Given the description of an element on the screen output the (x, y) to click on. 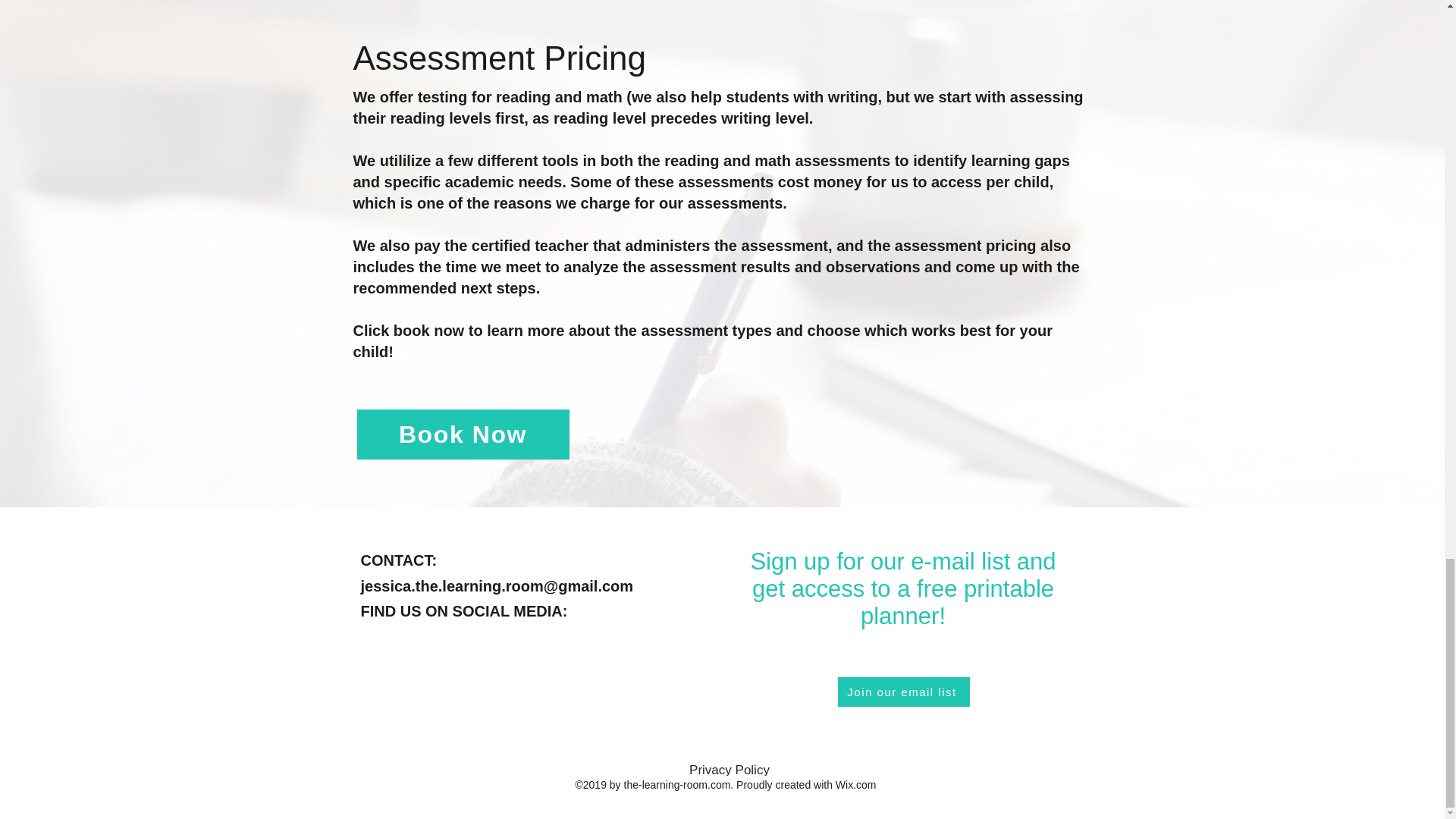
Join our email list (903, 691)
Privacy Policy (729, 769)
Book Now (462, 434)
